Given the description of an element on the screen output the (x, y) to click on. 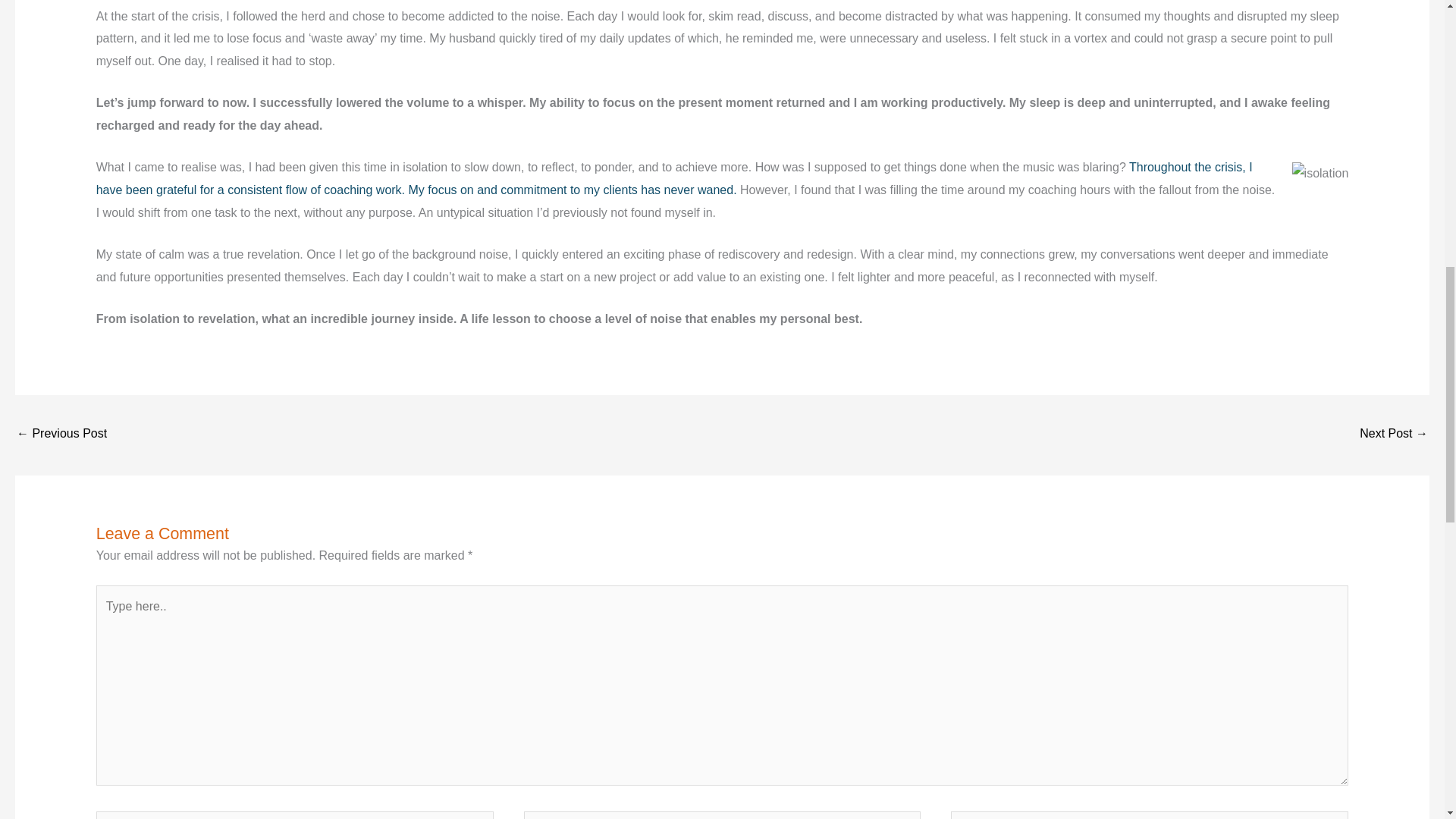
Ignite Your Can Do Mindset: Why I Walk in Nature (61, 434)
Ignite Your Can Do Mindset: Finding Joy in the Moment (1393, 434)
